Given the description of an element on the screen output the (x, y) to click on. 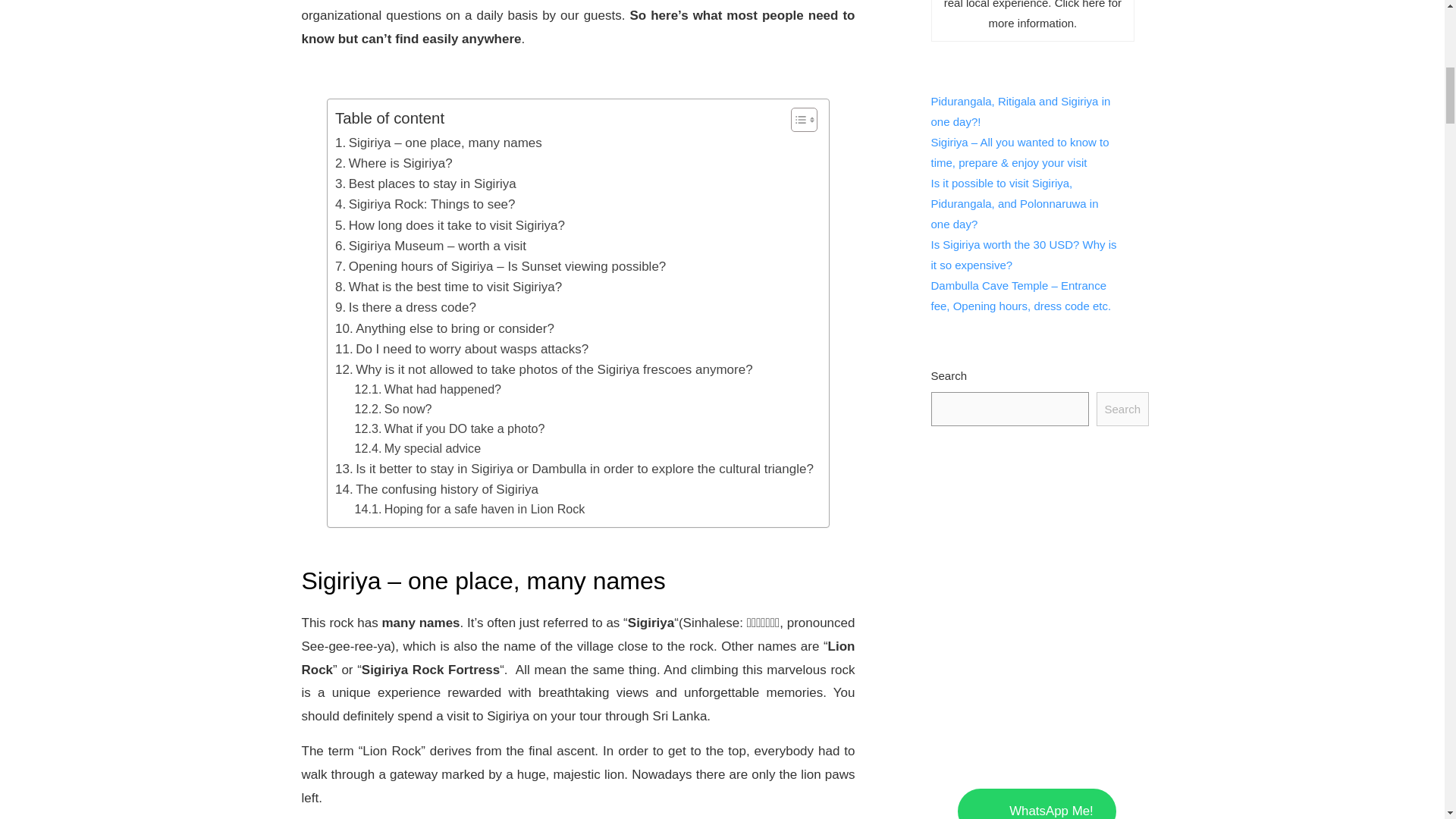
Do I need to worry about wasps attacks? (461, 349)
Is there a dress code? (405, 307)
Best places to stay in Sigiriya (425, 183)
The confusing history of Sigiriya (436, 489)
What is the best time to visit Sigiriya? (448, 286)
Do I need to worry about wasps attacks? (461, 349)
Where is Sigiriya? (393, 163)
How long does it take to visit Sigiriya? (449, 225)
So now? (393, 409)
Is there a dress code? (405, 307)
Sigiriya Rock: Things to see? (424, 204)
Anything else to bring or consider? (444, 328)
What had happened? (428, 389)
